Given the description of an element on the screen output the (x, y) to click on. 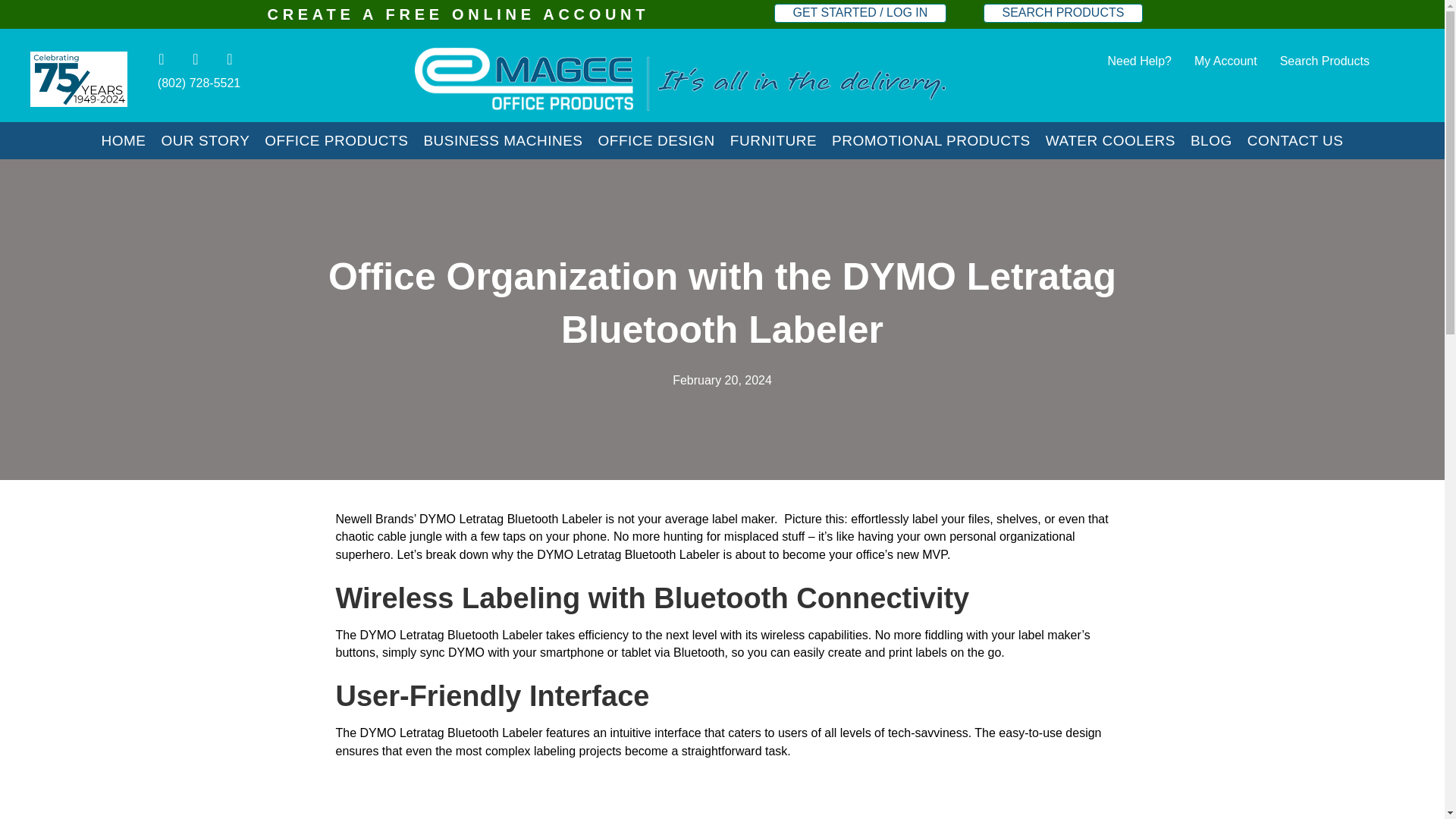
75slash (79, 79)
OUR STORY (205, 140)
CREATE A FREE ONLINE ACCOUNT (457, 13)
800 horz logo (679, 78)
BUSINESS MACHINES (502, 140)
HOME (123, 140)
My Account (1225, 61)
Search Products (1324, 61)
Need Help? (1139, 61)
